Given the description of an element on the screen output the (x, y) to click on. 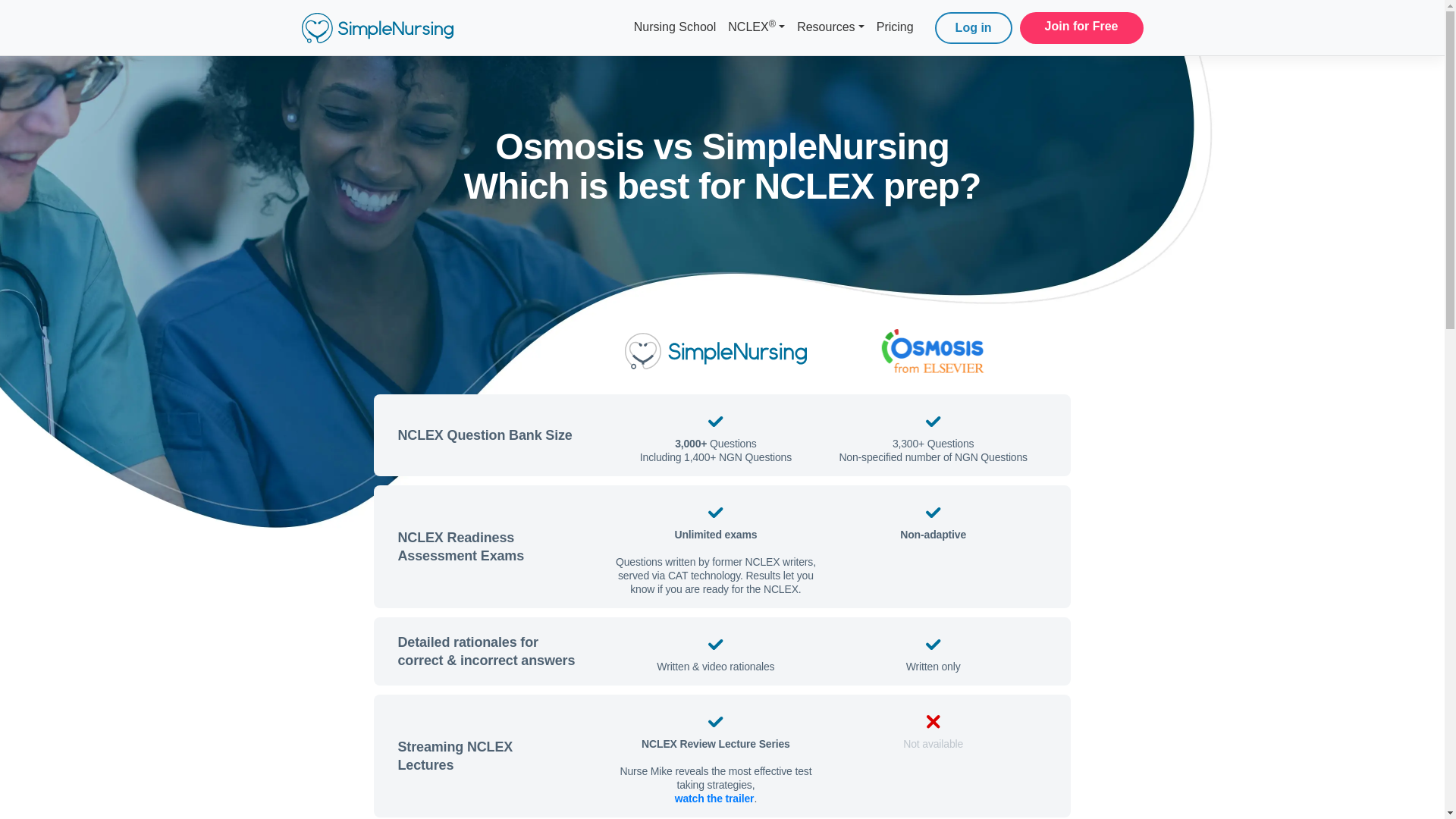
Log in (972, 28)
Nursing School (674, 27)
watch the trailer (714, 798)
Resources (830, 27)
Join for Free (1081, 26)
Pricing (895, 27)
Pricing (895, 27)
Log in (972, 28)
Nursing School (674, 27)
Resources (830, 27)
